Given the description of an element on the screen output the (x, y) to click on. 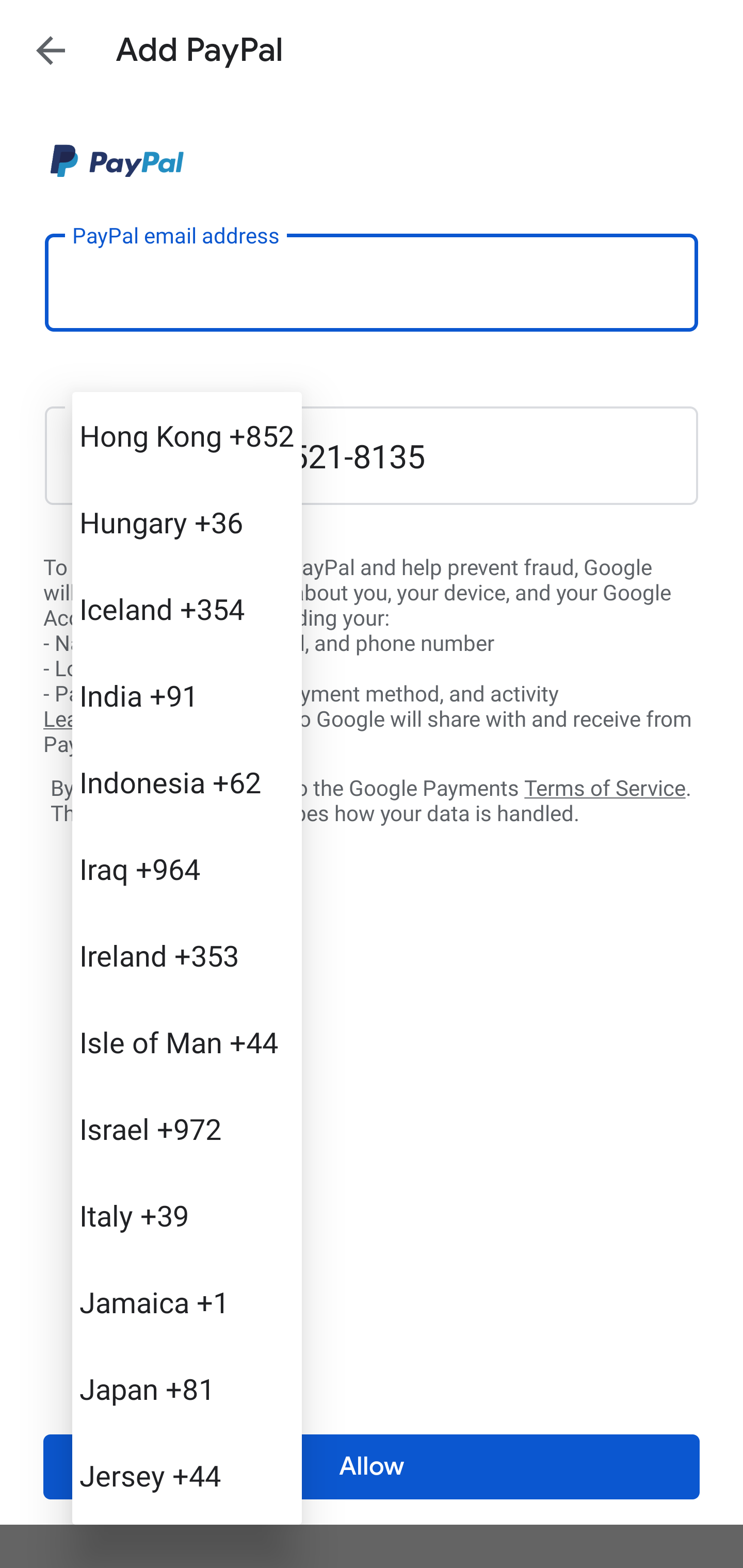
Hong Kong +852 (186, 435)
Hungary +36 (186, 522)
Iceland +354 (186, 609)
India +91 (186, 695)
Indonesia +62 (186, 781)
Iraq +964 (186, 868)
Ireland +353 (186, 955)
Isle of Man +44 (186, 1041)
Israel +972 (186, 1128)
Italy +39 (186, 1215)
Jamaica +1 (186, 1302)
Japan +81 (186, 1388)
Jersey +44 (186, 1474)
